Given the description of an element on the screen output the (x, y) to click on. 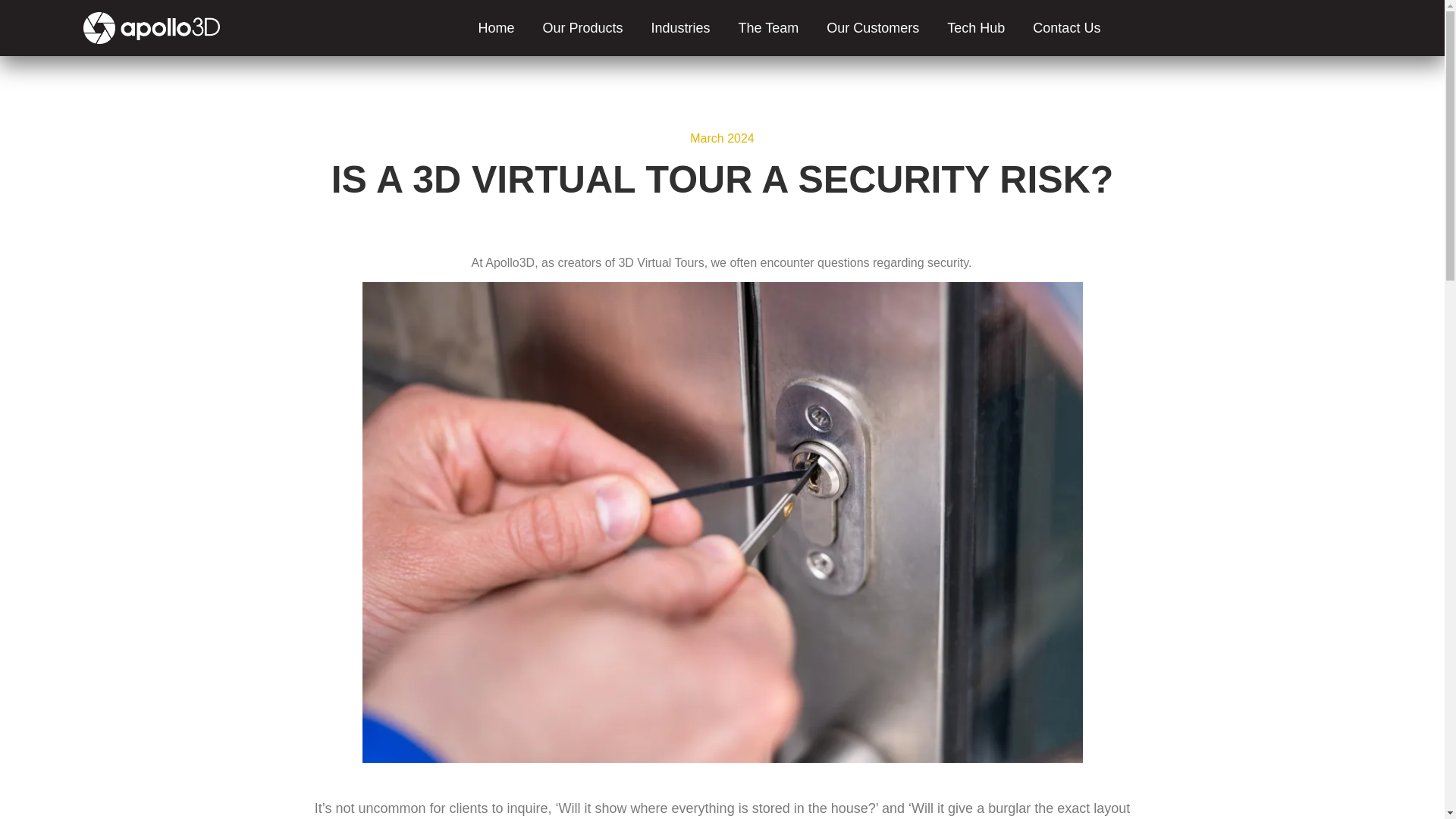
Tech Hub (975, 28)
Contact Us (1066, 28)
Our Products (581, 28)
Home (495, 28)
Industries (680, 28)
The Team (768, 28)
Our Customers (872, 28)
